Given the description of an element on the screen output the (x, y) to click on. 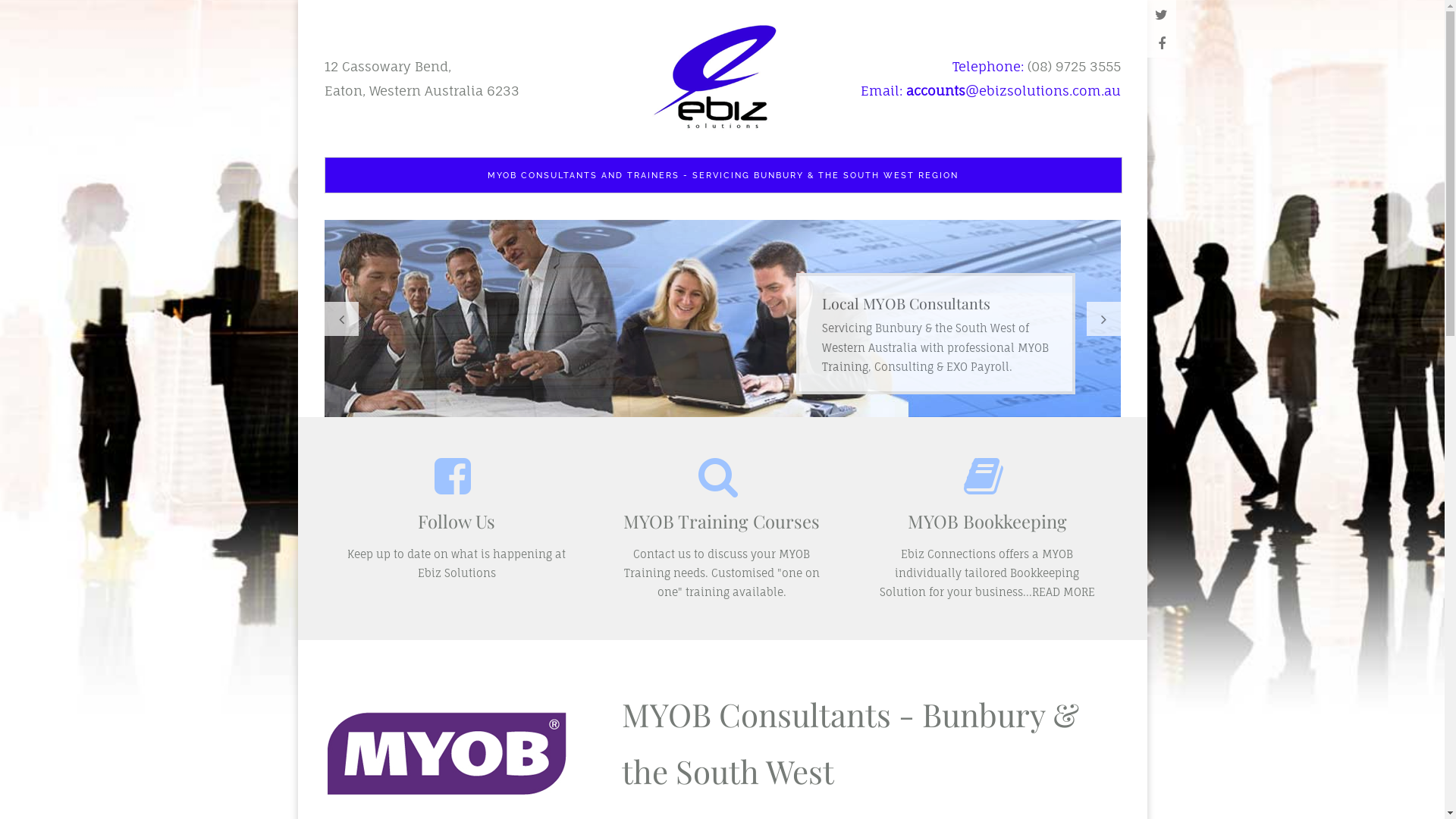
Facebook Element type: hover (1160, 42)
Twitter Element type: hover (1160, 14)
@ebizsolutions.com.au Element type: text (1042, 89)
